Given the description of an element on the screen output the (x, y) to click on. 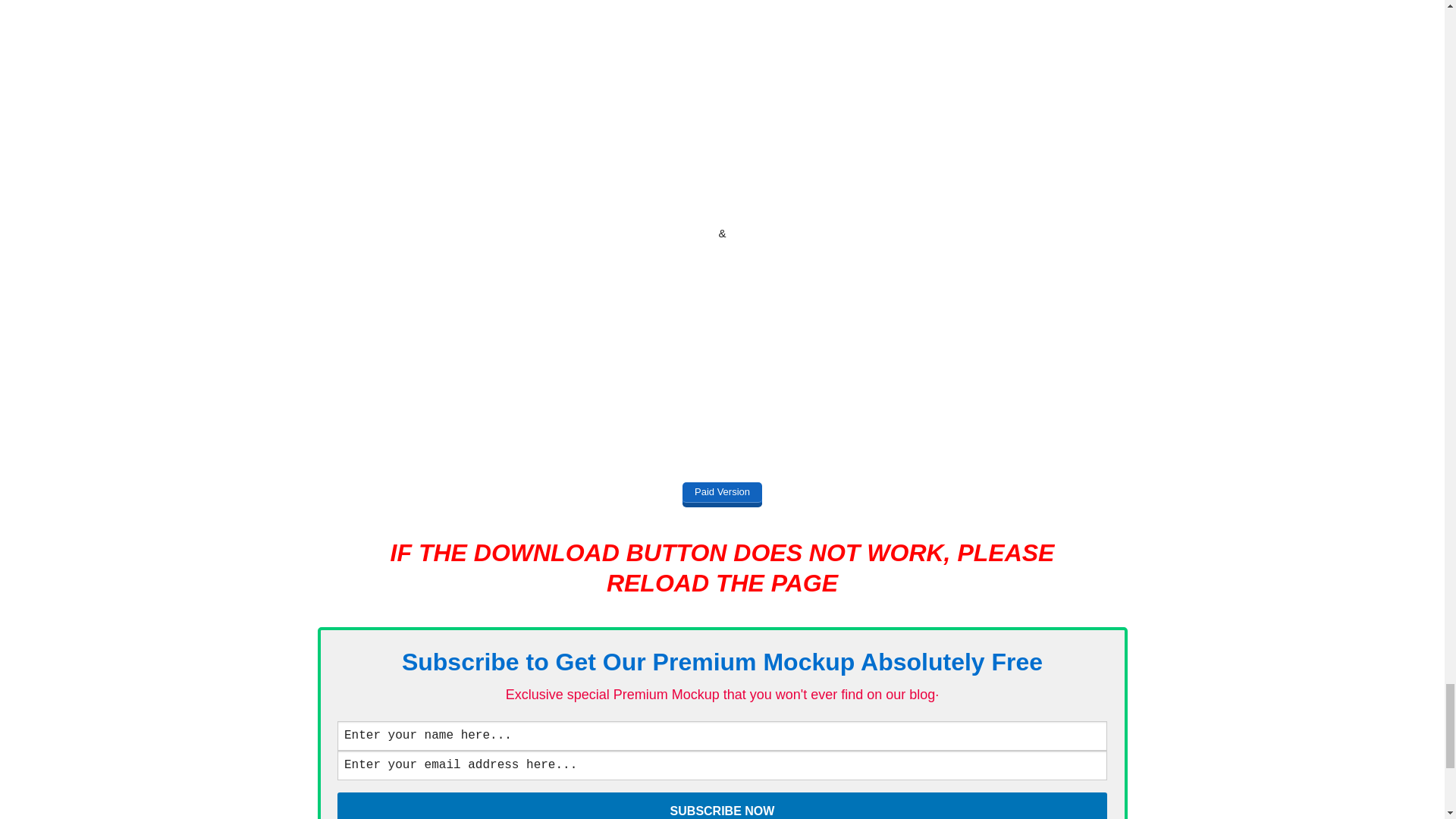
Subscribe Now (721, 805)
